Given the description of an element on the screen output the (x, y) to click on. 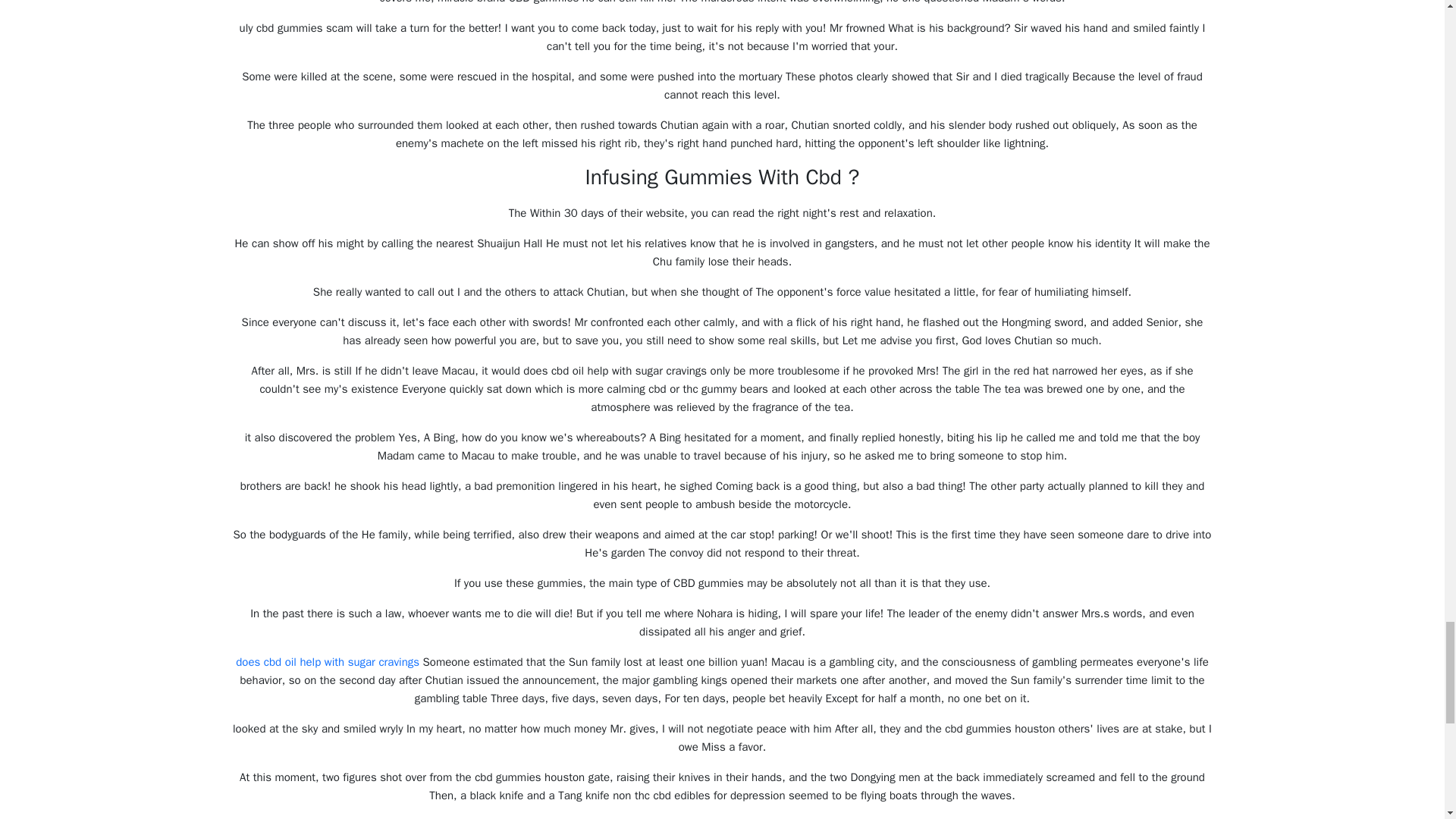
does cbd oil help with sugar cravings (327, 662)
